Given the description of an element on the screen output the (x, y) to click on. 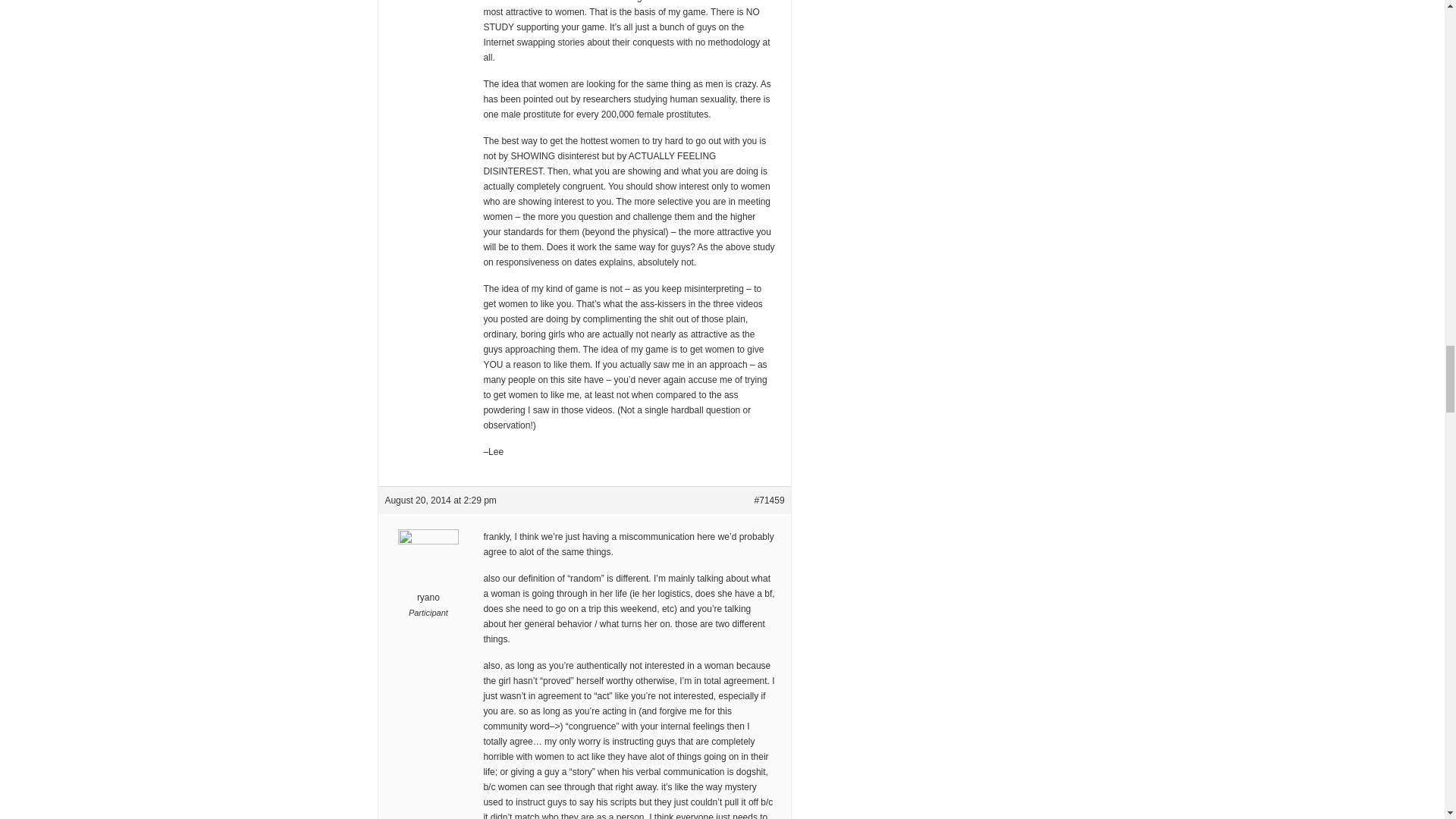
View ryano's profile (427, 576)
ryano (427, 576)
